Given the description of an element on the screen output the (x, y) to click on. 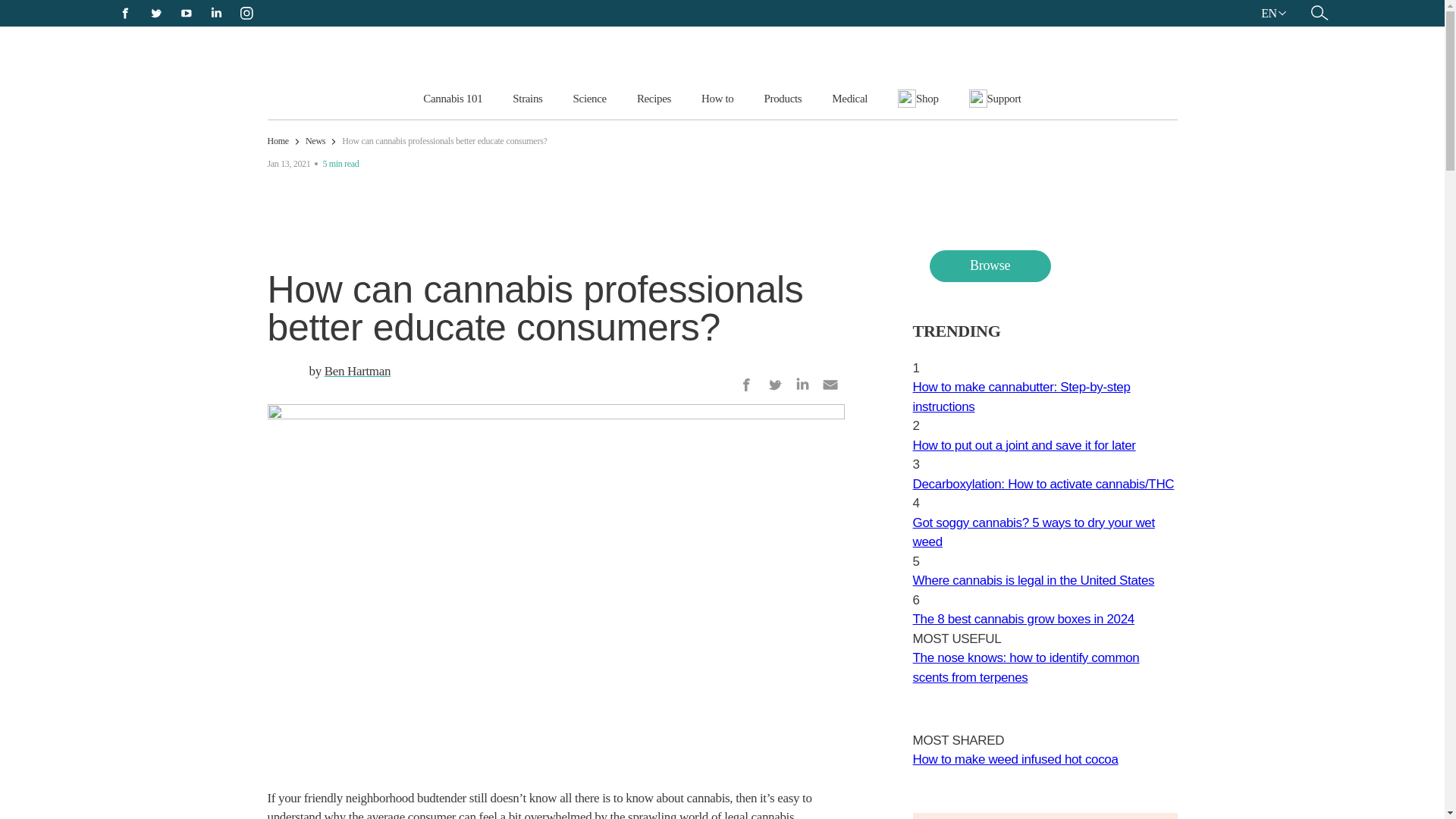
Strains (527, 97)
Posts by Ben Hartman (357, 370)
Cannabis 101 (452, 97)
